Given the description of an element on the screen output the (x, y) to click on. 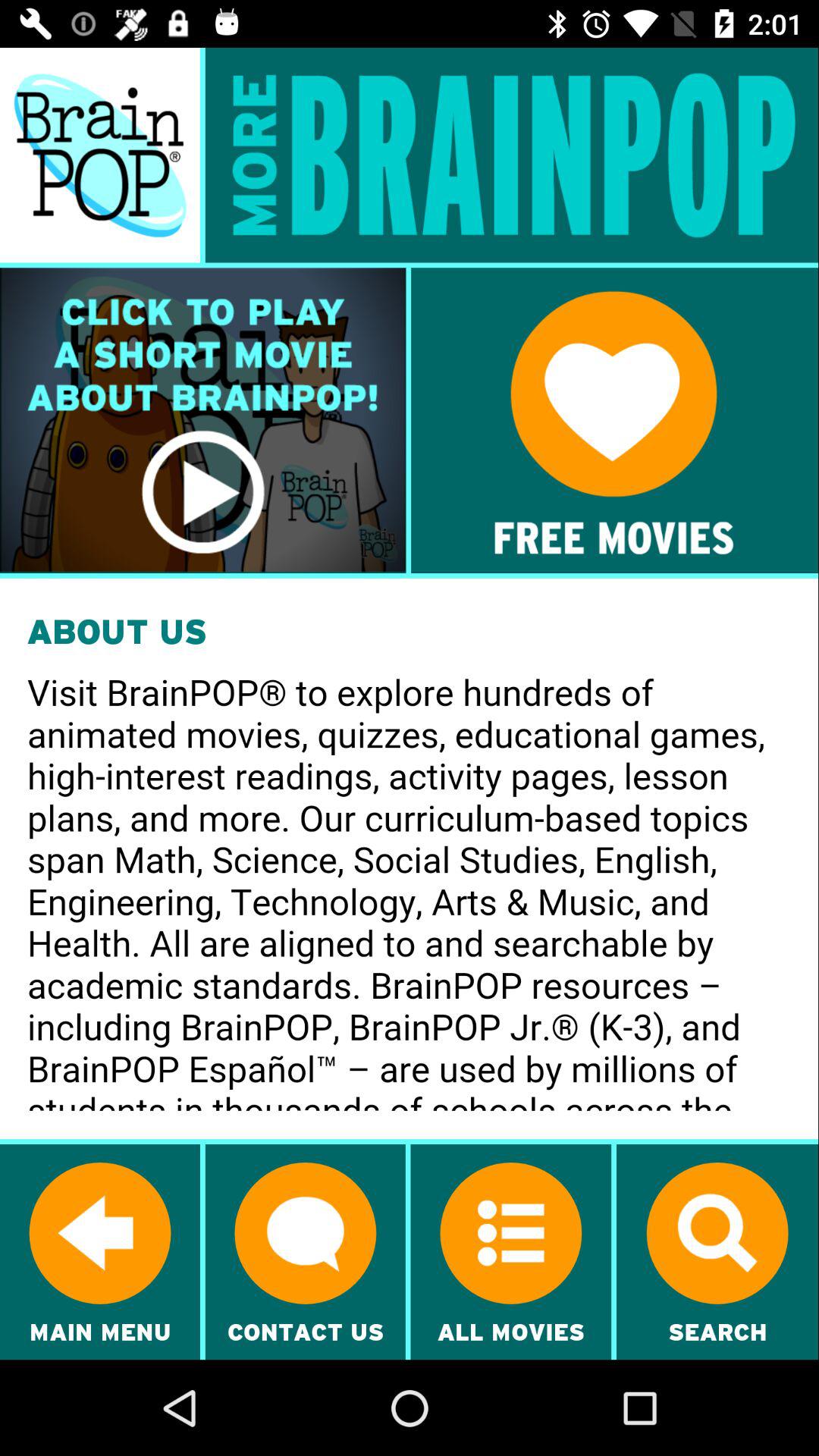
free movies (614, 420)
